Given the description of an element on the screen output the (x, y) to click on. 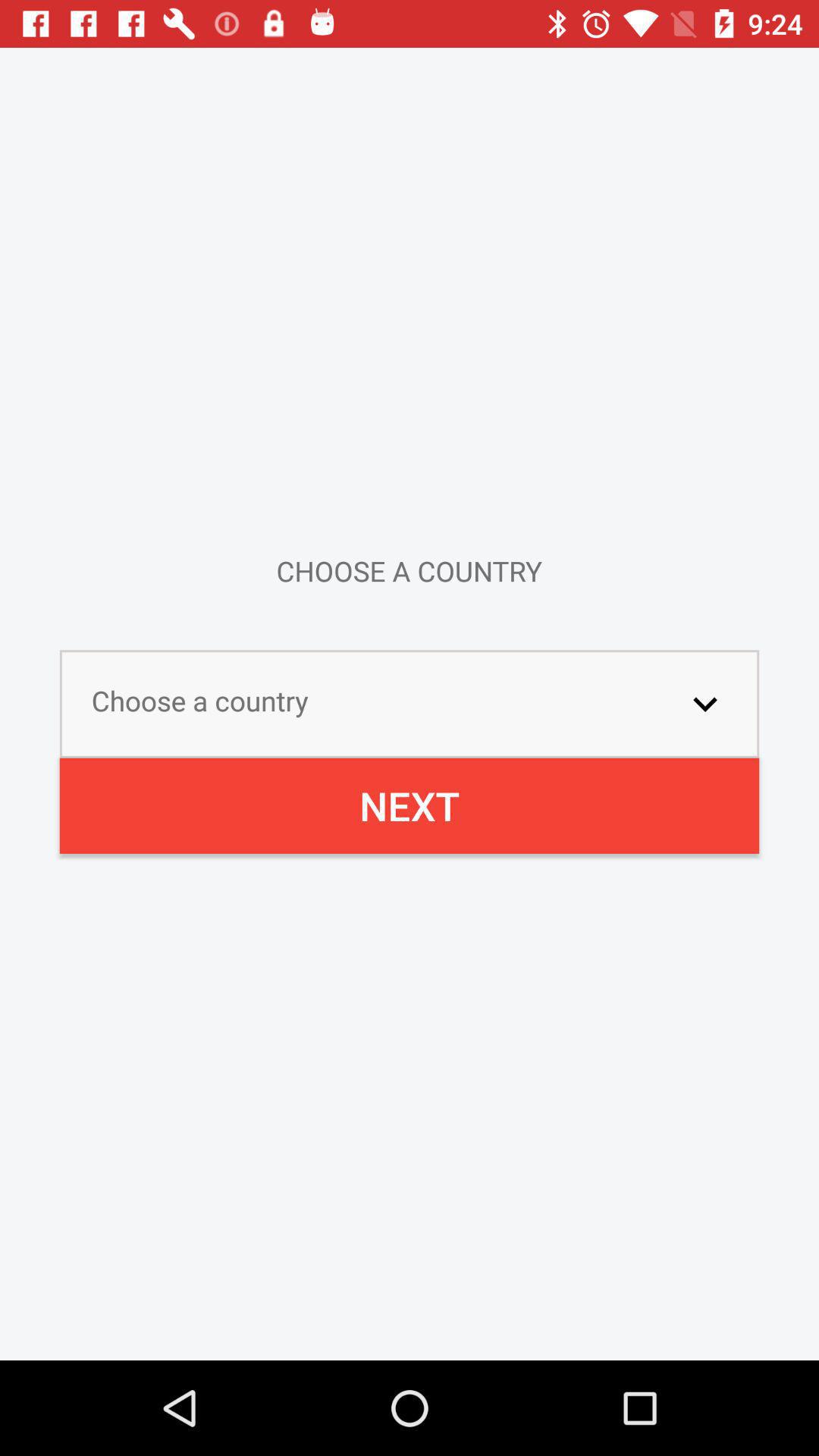
choose country (705, 704)
